Given the description of an element on the screen output the (x, y) to click on. 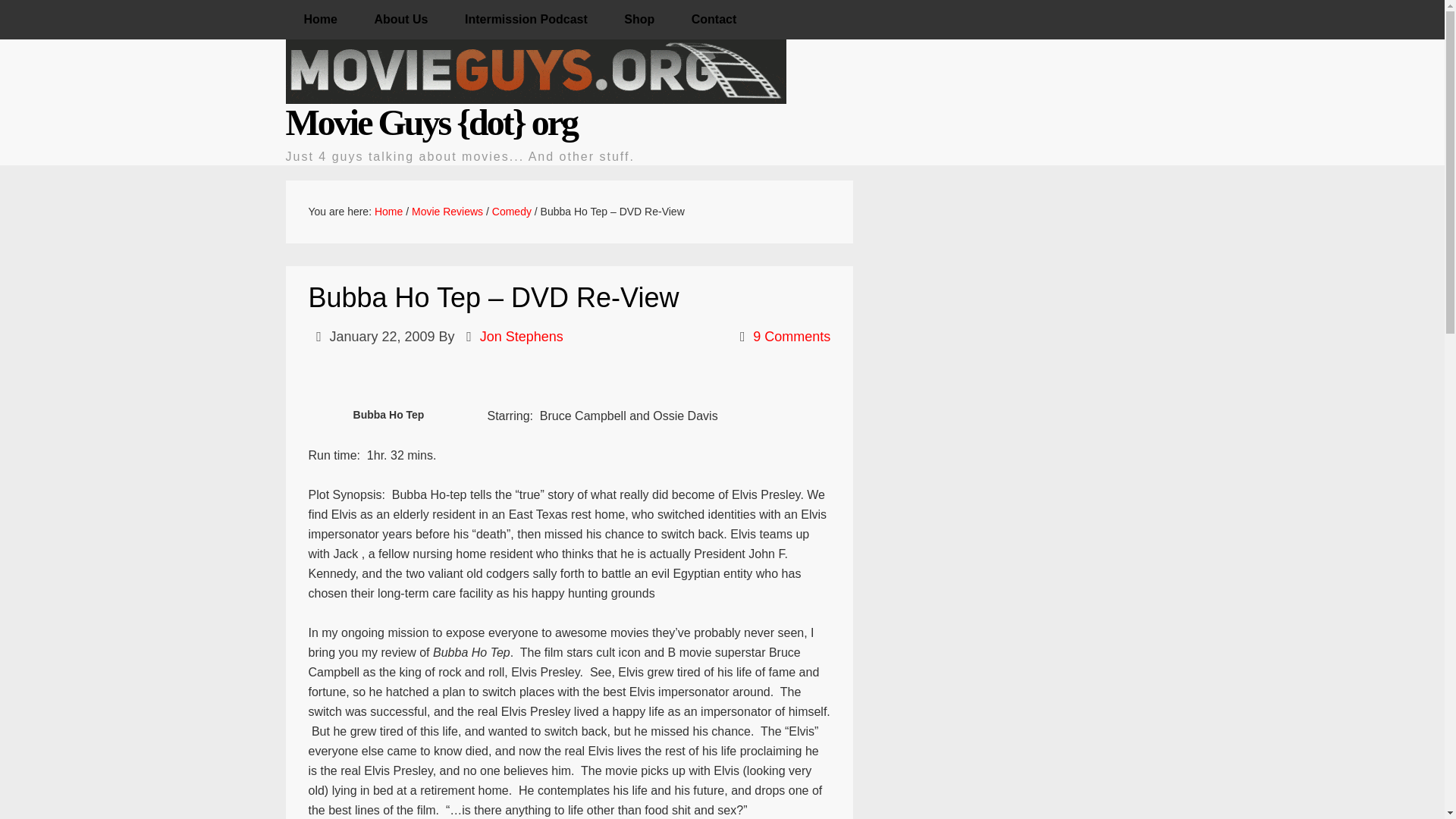
About Us (400, 19)
Movie Reviews (447, 211)
Contact (713, 19)
Comedy (511, 211)
9 Comments (790, 336)
Home (320, 19)
Intermission Podcast (525, 19)
Home (388, 211)
Jon Stephens (521, 336)
Shop (638, 19)
